Given the description of an element on the screen output the (x, y) to click on. 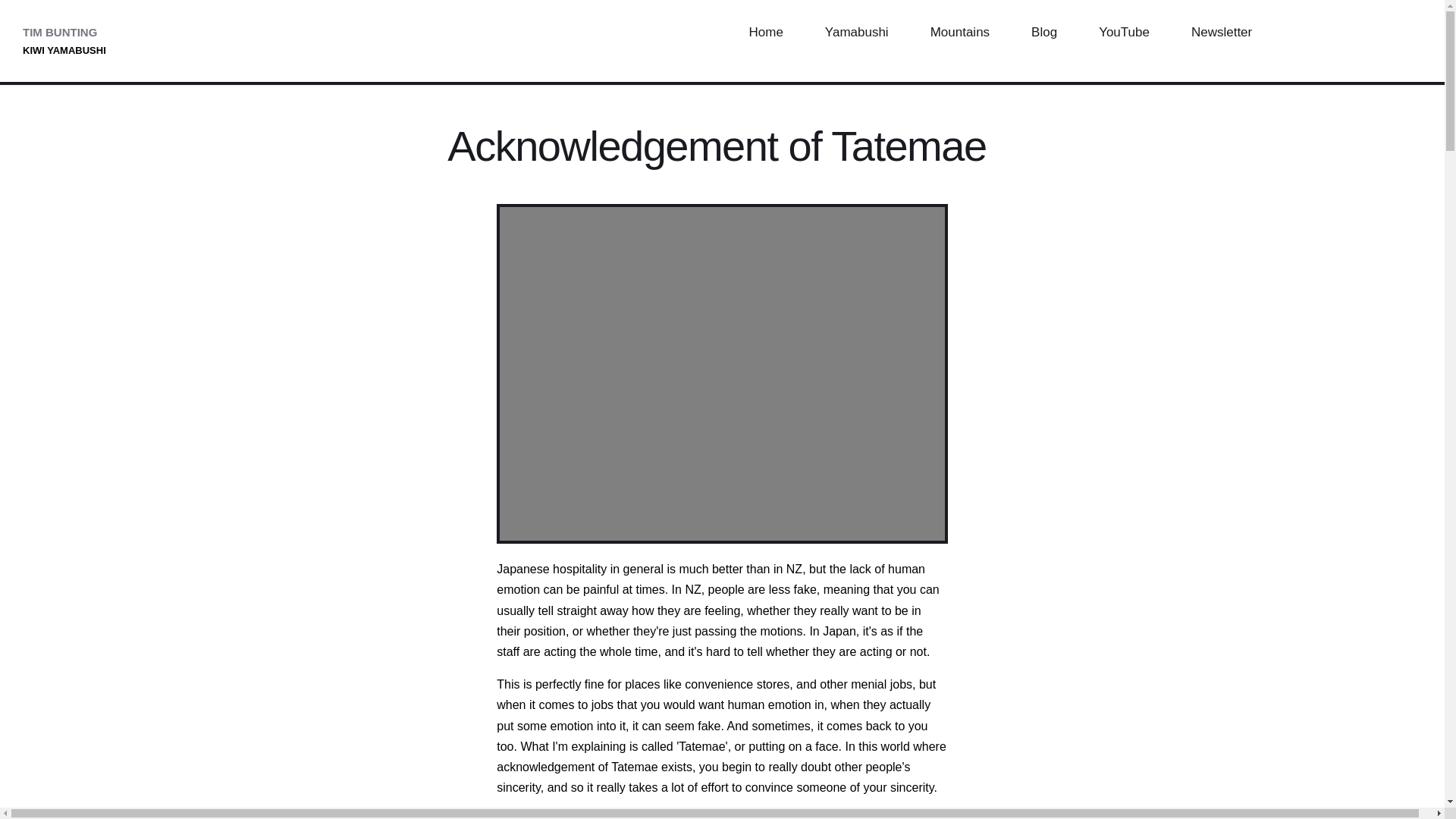
Newsletter (1221, 32)
Mountains (959, 32)
Blog (1044, 32)
YouTube (1123, 32)
Yamabushi (856, 32)
Home (765, 32)
